Given the description of an element on the screen output the (x, y) to click on. 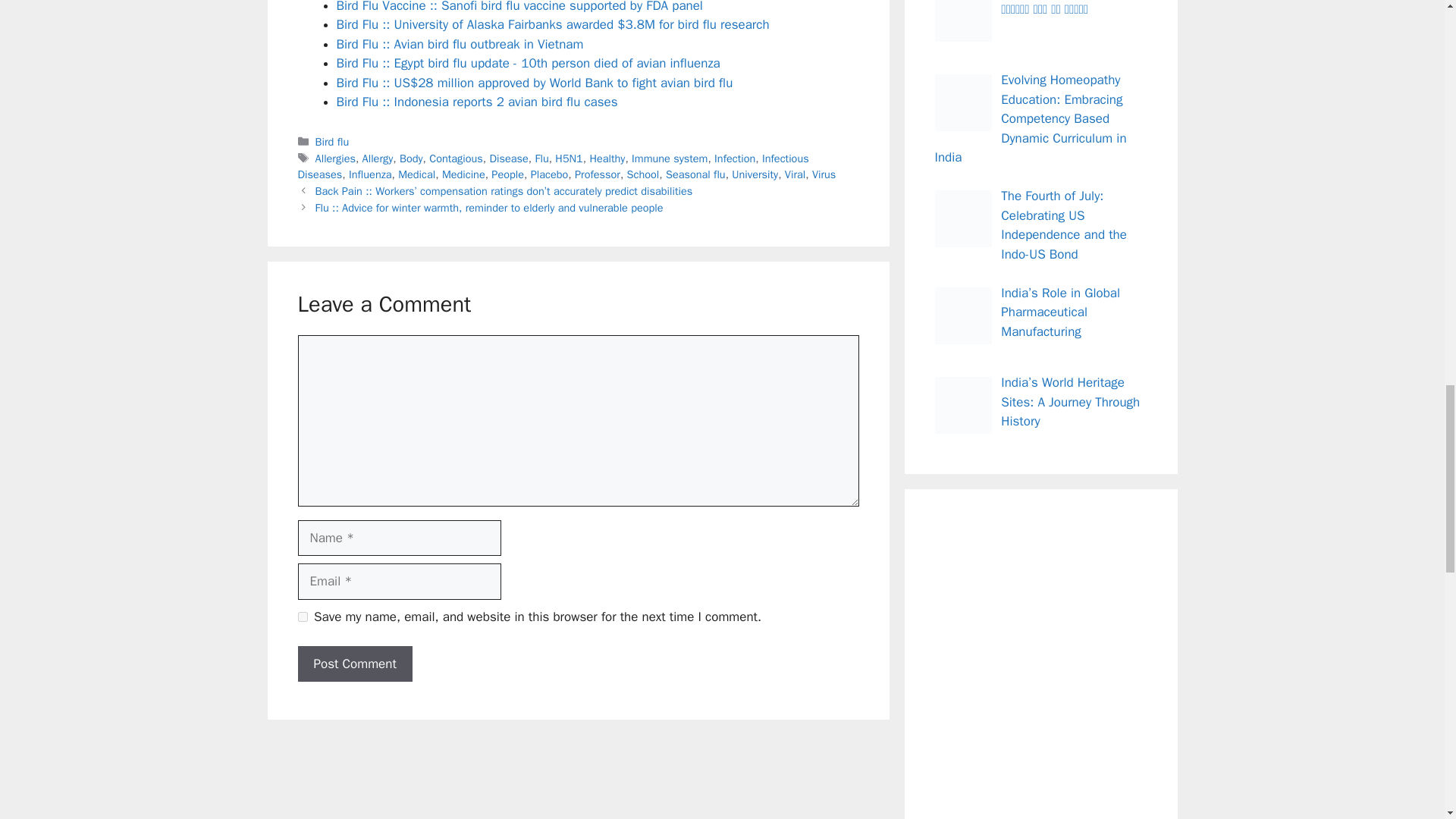
yes (302, 616)
Allergies (335, 158)
Body (410, 158)
Immune system (669, 158)
Infectious Diseases (552, 166)
People (508, 173)
Allergy (377, 158)
Bird Flu :: Avian bird flu outbreak in Vietnam (459, 44)
